Given the description of an element on the screen output the (x, y) to click on. 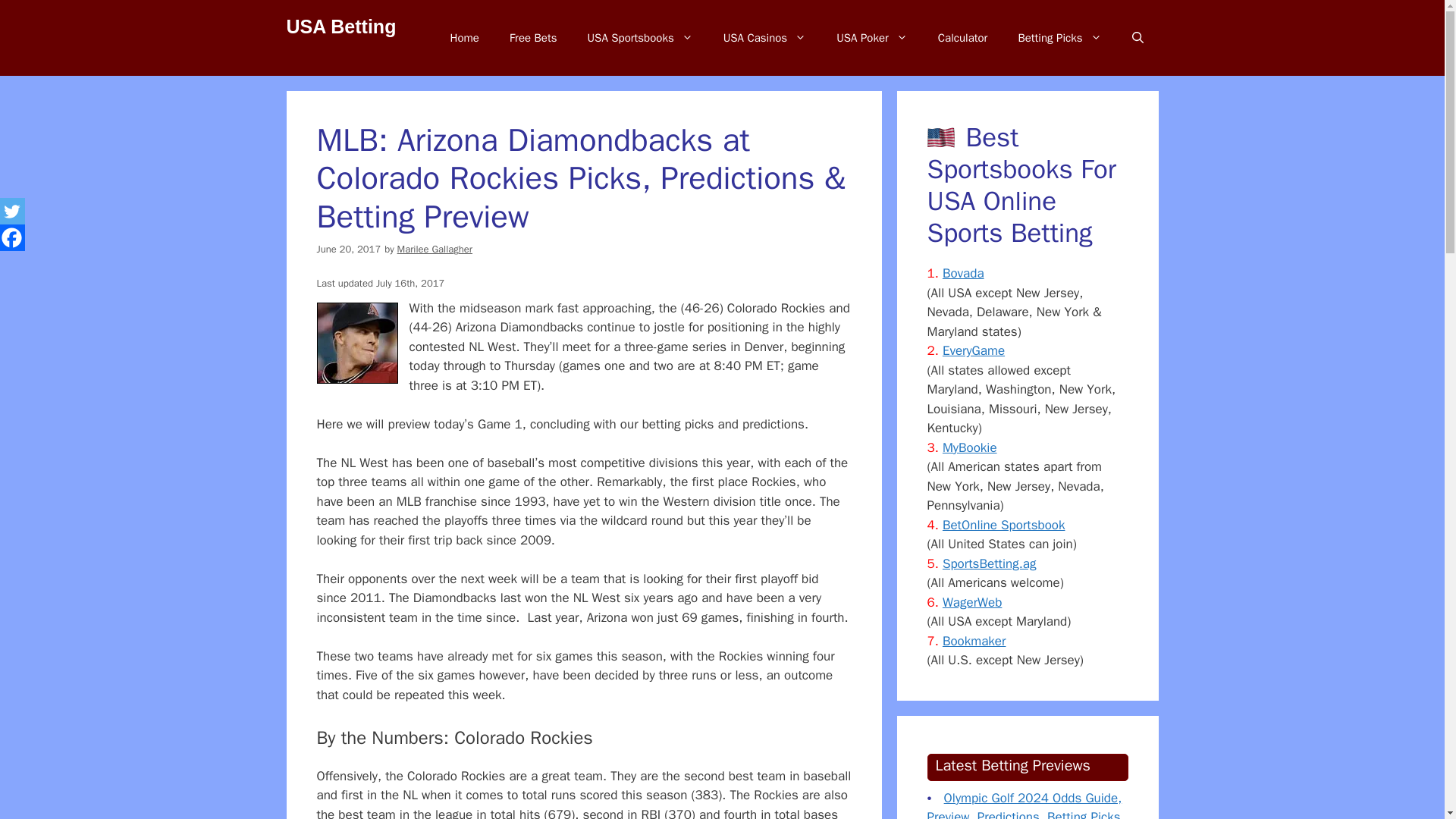
Click for Free Bets (533, 37)
USA Betting Home Page (465, 37)
Best USA Casinos (764, 37)
USA Sportsbook Reviews (639, 37)
USA Poker (872, 37)
Home (465, 37)
Free Bets (533, 37)
USA Sportsbooks (639, 37)
Calculator (963, 37)
USA Betting (341, 25)
USA Casinos (764, 37)
Betting Picks (1059, 37)
